Given the description of an element on the screen output the (x, y) to click on. 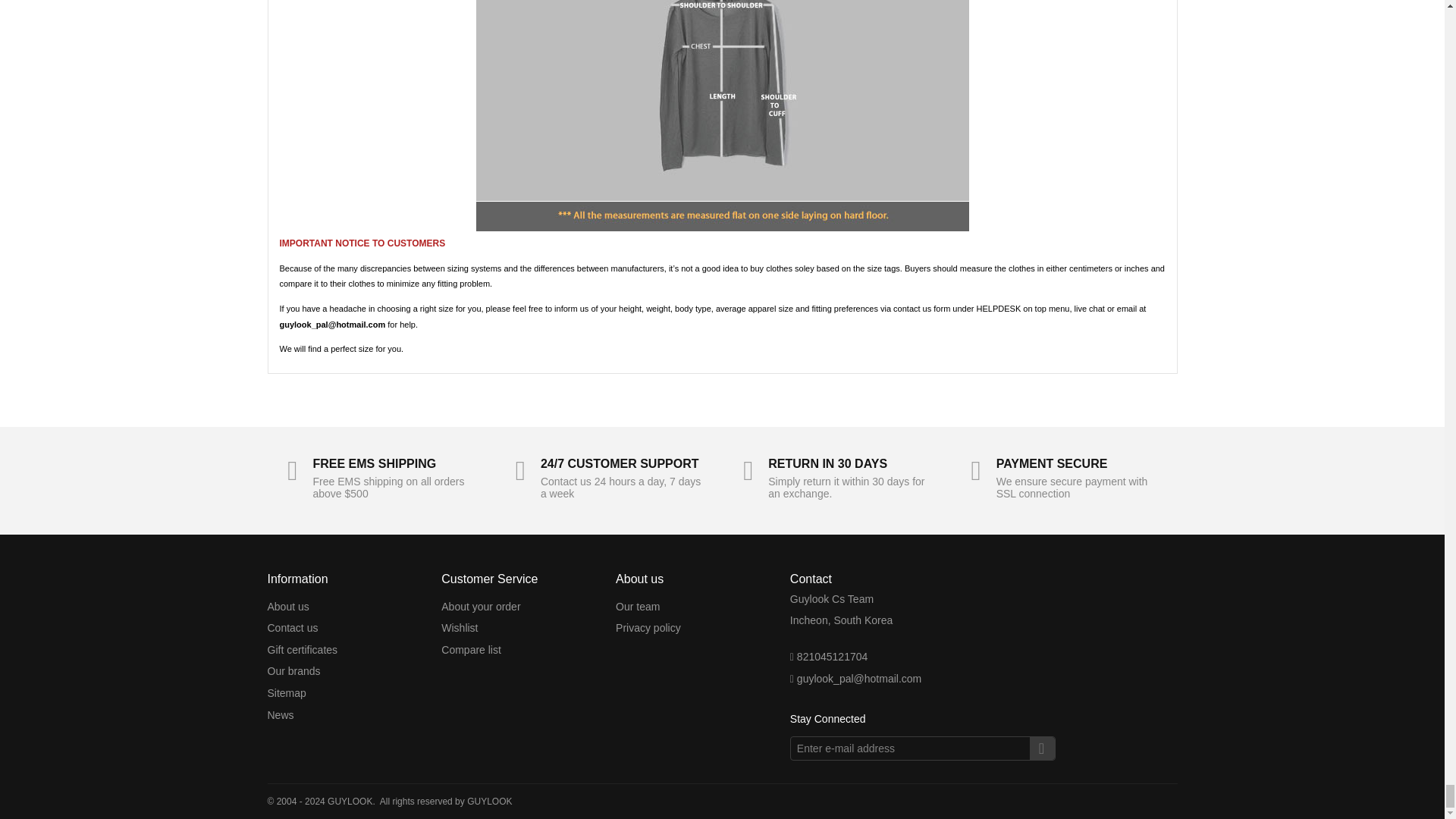
Go (1041, 748)
Enter e-mail address (922, 748)
